Given the description of an element on the screen output the (x, y) to click on. 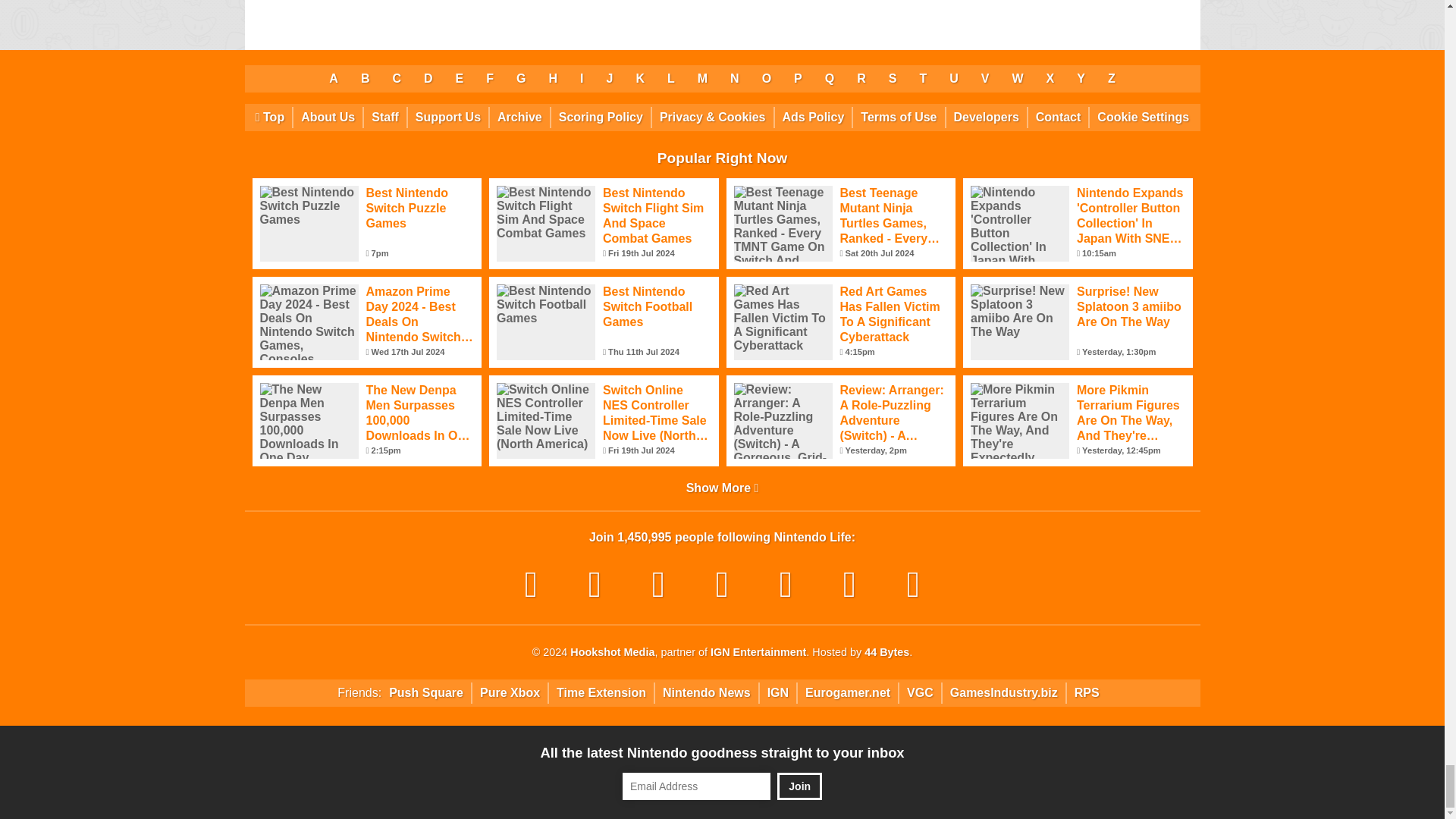
Join (799, 786)
